Given the description of an element on the screen output the (x, y) to click on. 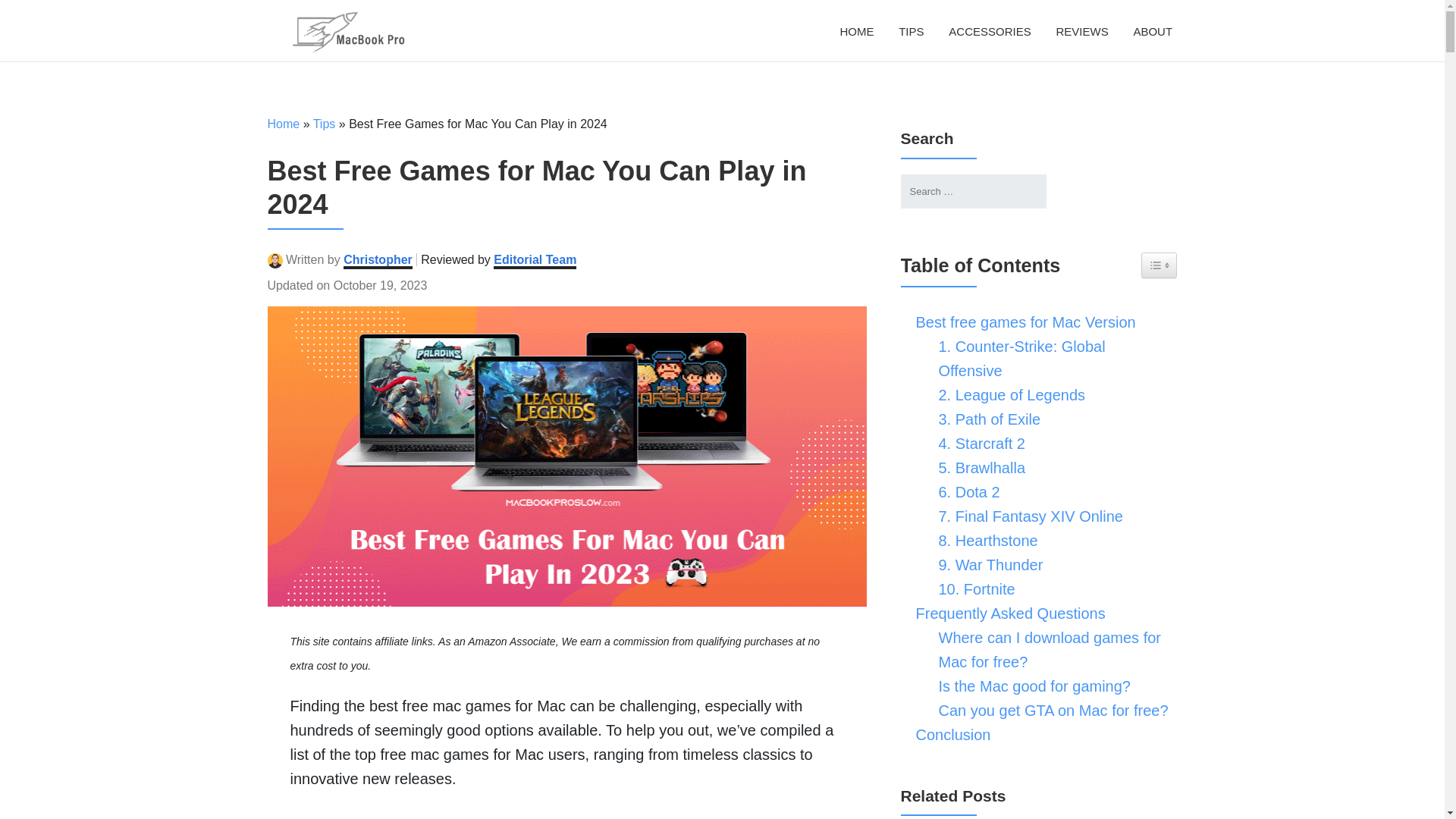
About (1152, 30)
TIPS (910, 30)
Tips (910, 30)
9. War Thunder (987, 564)
Tips (324, 123)
Toggle Table of Content (1158, 265)
Home (856, 30)
1. Counter-Strike: Global Offensive (1050, 358)
4. Starcraft 2 (978, 443)
